Given the description of an element on the screen output the (x, y) to click on. 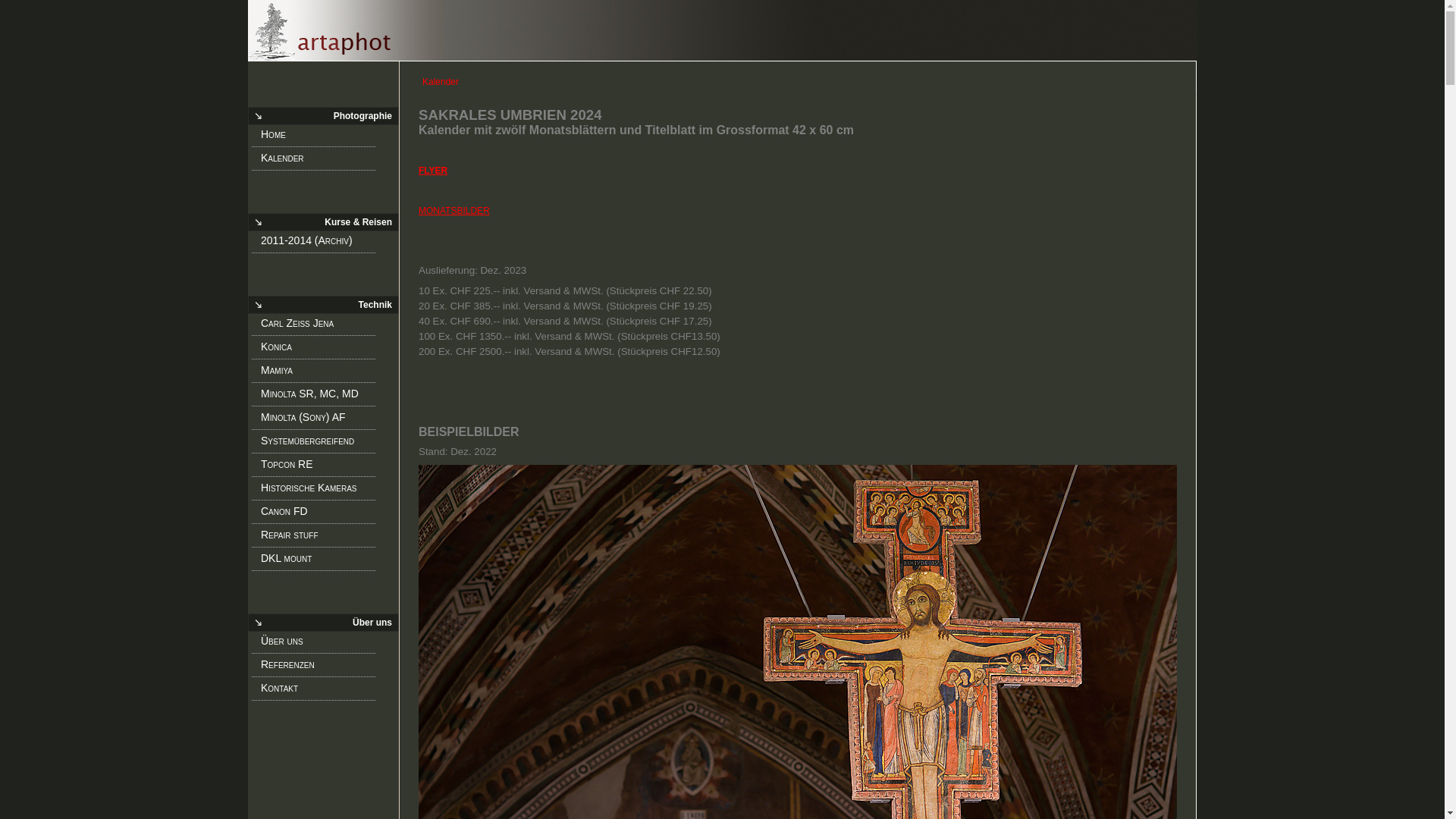
Konica Element type: text (318, 349)
Minolta SR, MC, MD Element type: text (318, 396)
Kalender Element type: text (318, 160)
MONATSBILDER Element type: text (453, 209)
Referenzen Element type: text (318, 667)
Home Element type: text (318, 137)
Canon FD Element type: text (318, 514)
Mamiya Element type: text (318, 373)
Minolta (Sony) AF Element type: text (318, 420)
2011-2014 (Archiv) Element type: text (318, 243)
Repair stuff Element type: text (318, 537)
Topcon RE Element type: text (318, 467)
Historische Kameras Element type: text (318, 490)
Kontakt Element type: text (318, 690)
FLYER Element type: text (432, 170)
DKL mount Element type: text (318, 561)
Kalender Element type: hover (721, 30)
Carl Zeiss Jena Element type: text (318, 326)
